Given the description of an element on the screen output the (x, y) to click on. 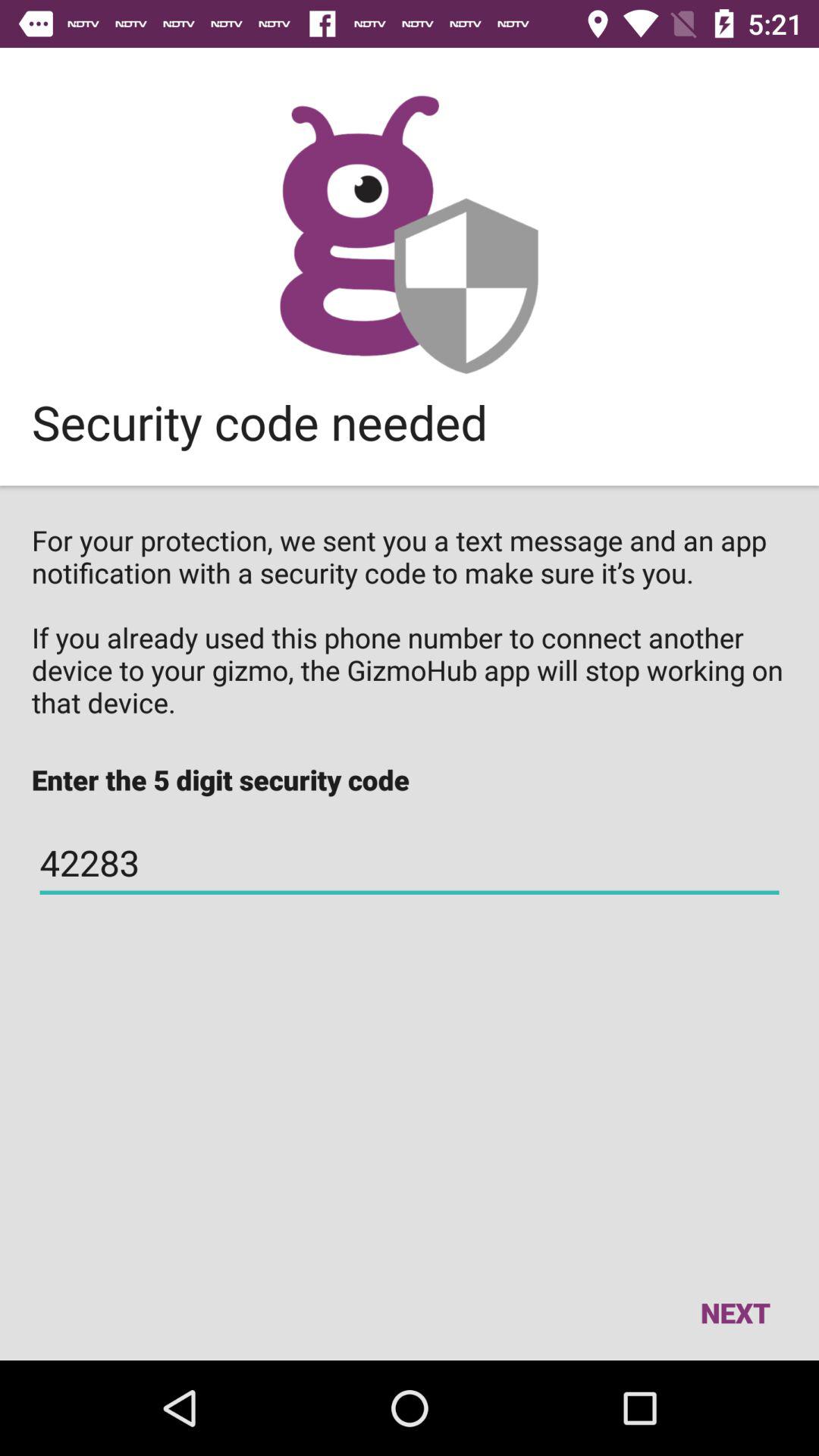
press next icon (735, 1312)
